Given the description of an element on the screen output the (x, y) to click on. 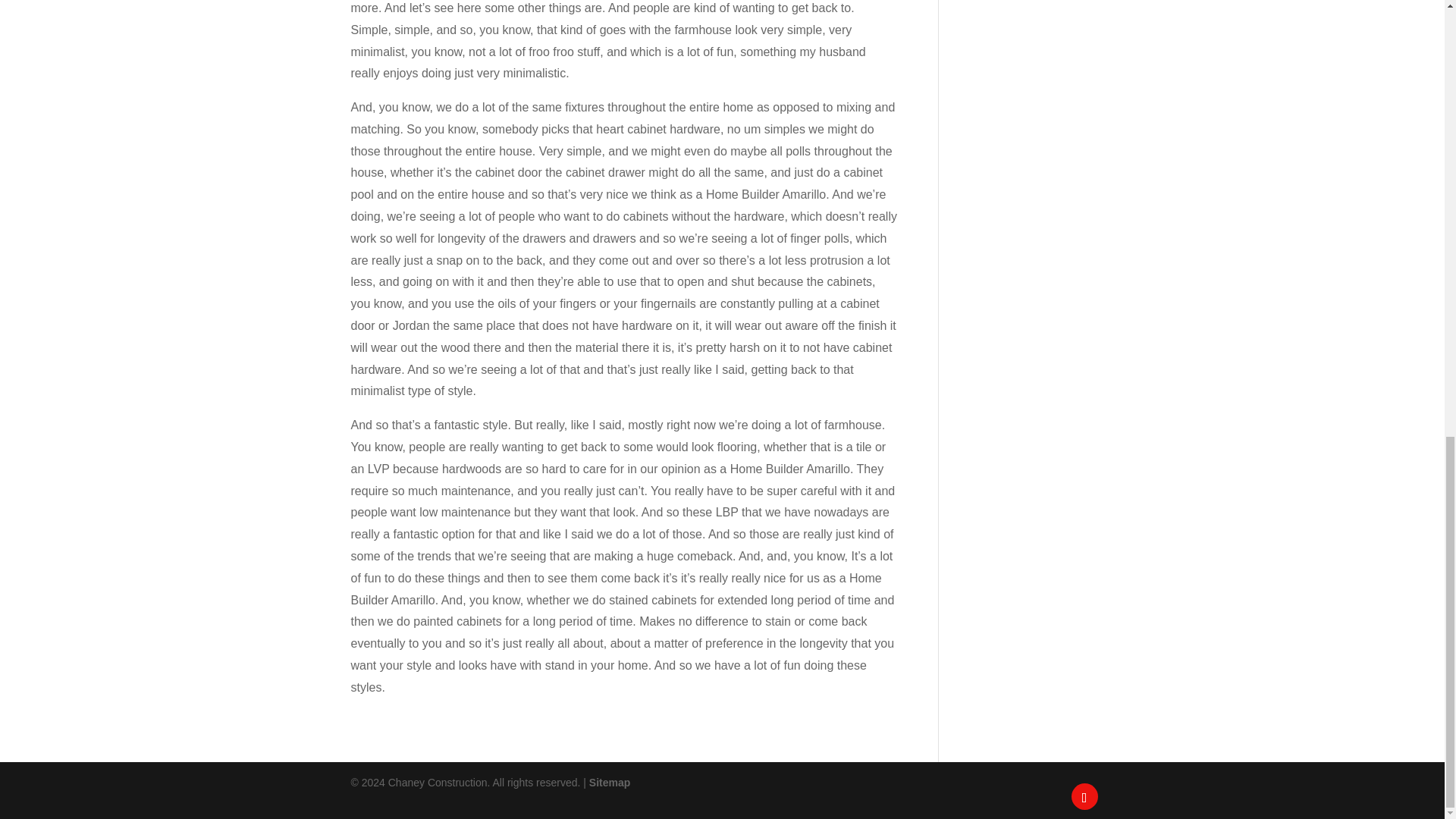
Sitemap (609, 782)
